Given the description of an element on the screen output the (x, y) to click on. 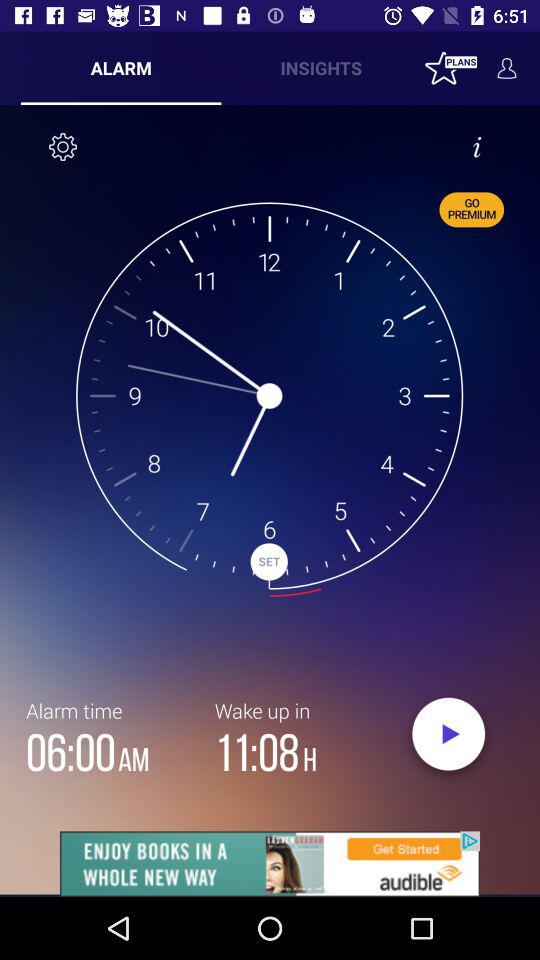
book advertisement (270, 864)
